Given the description of an element on the screen output the (x, y) to click on. 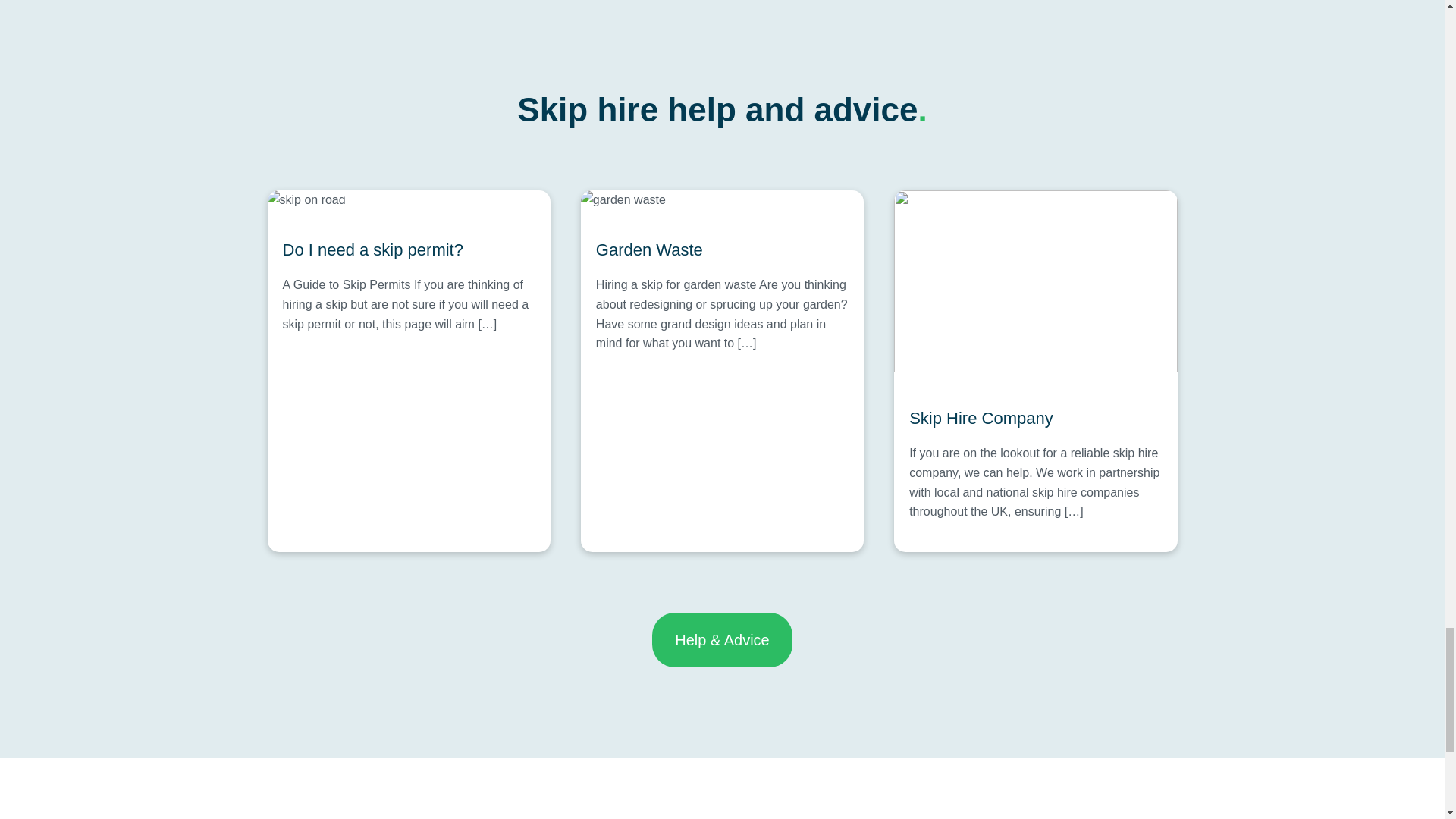
Do I need a skip permit? (408, 250)
Garden Waste (721, 250)
Skip Hire Company (1034, 418)
